Given the description of an element on the screen output the (x, y) to click on. 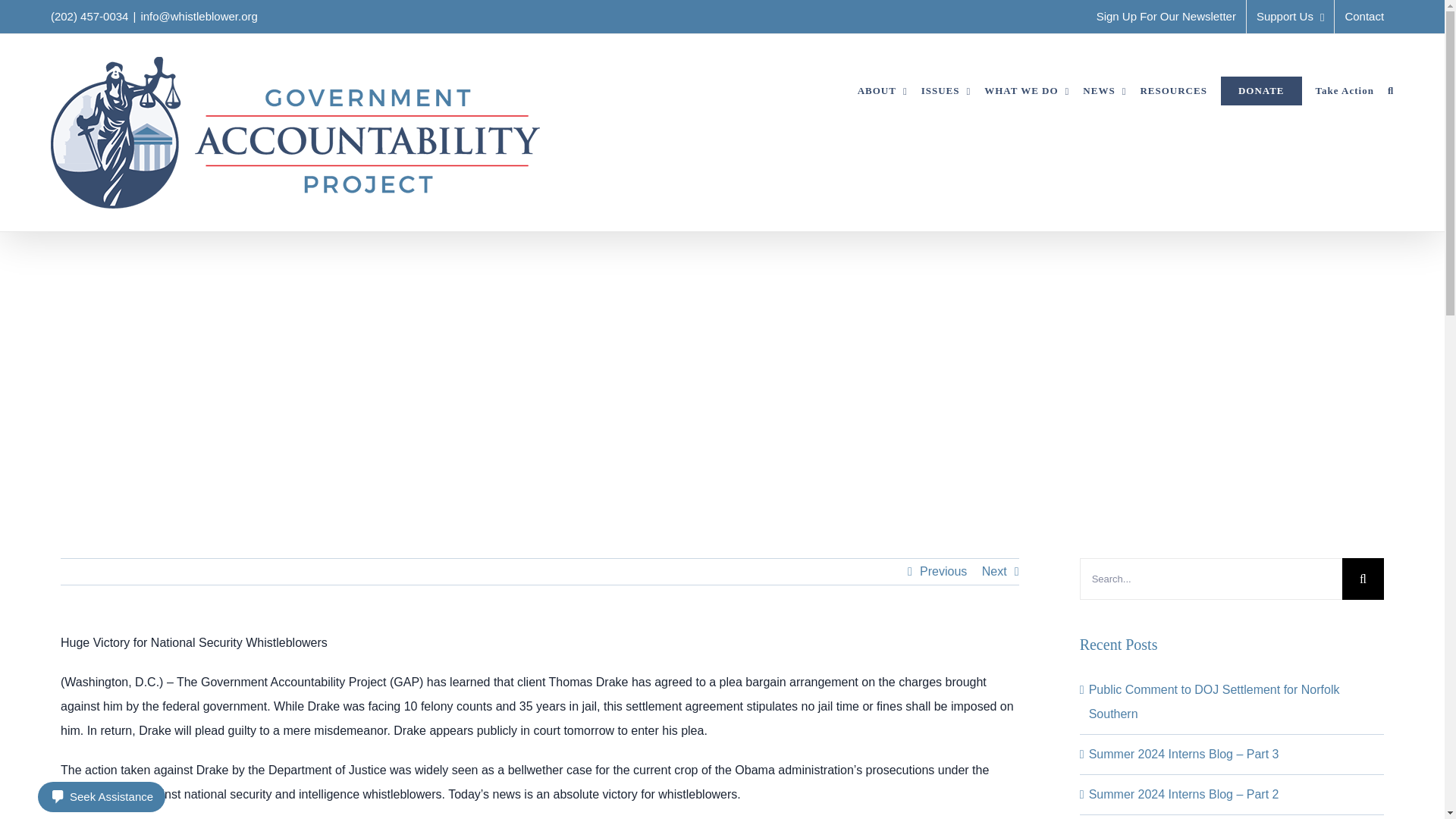
Support Us (1290, 16)
Sign Up For Our Newsletter (1166, 16)
Contact (1364, 16)
